Given the description of an element on the screen output the (x, y) to click on. 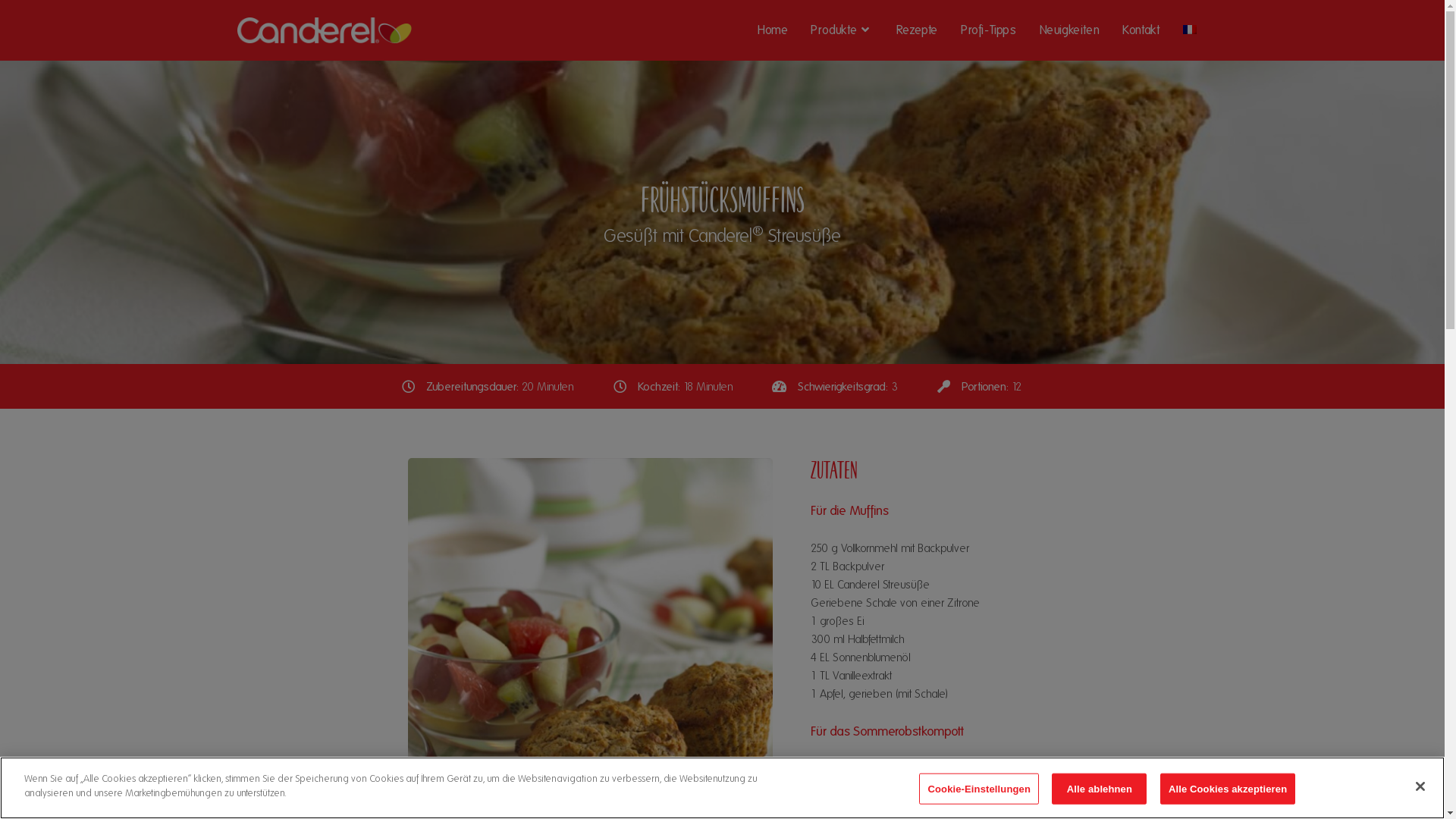
Kontakt Element type: text (1140, 30)
Alle ablehnen Element type: text (1098, 789)
Home Element type: text (772, 30)
Cookie-Einstellungen Element type: text (978, 789)
Alle Cookies akzeptieren Element type: text (1227, 789)
Profi-Tipps Element type: text (988, 30)
Produkte Element type: text (841, 30)
Rezepte Element type: text (916, 30)
Neuigkeiten Element type: text (1069, 30)
